Given the description of an element on the screen output the (x, y) to click on. 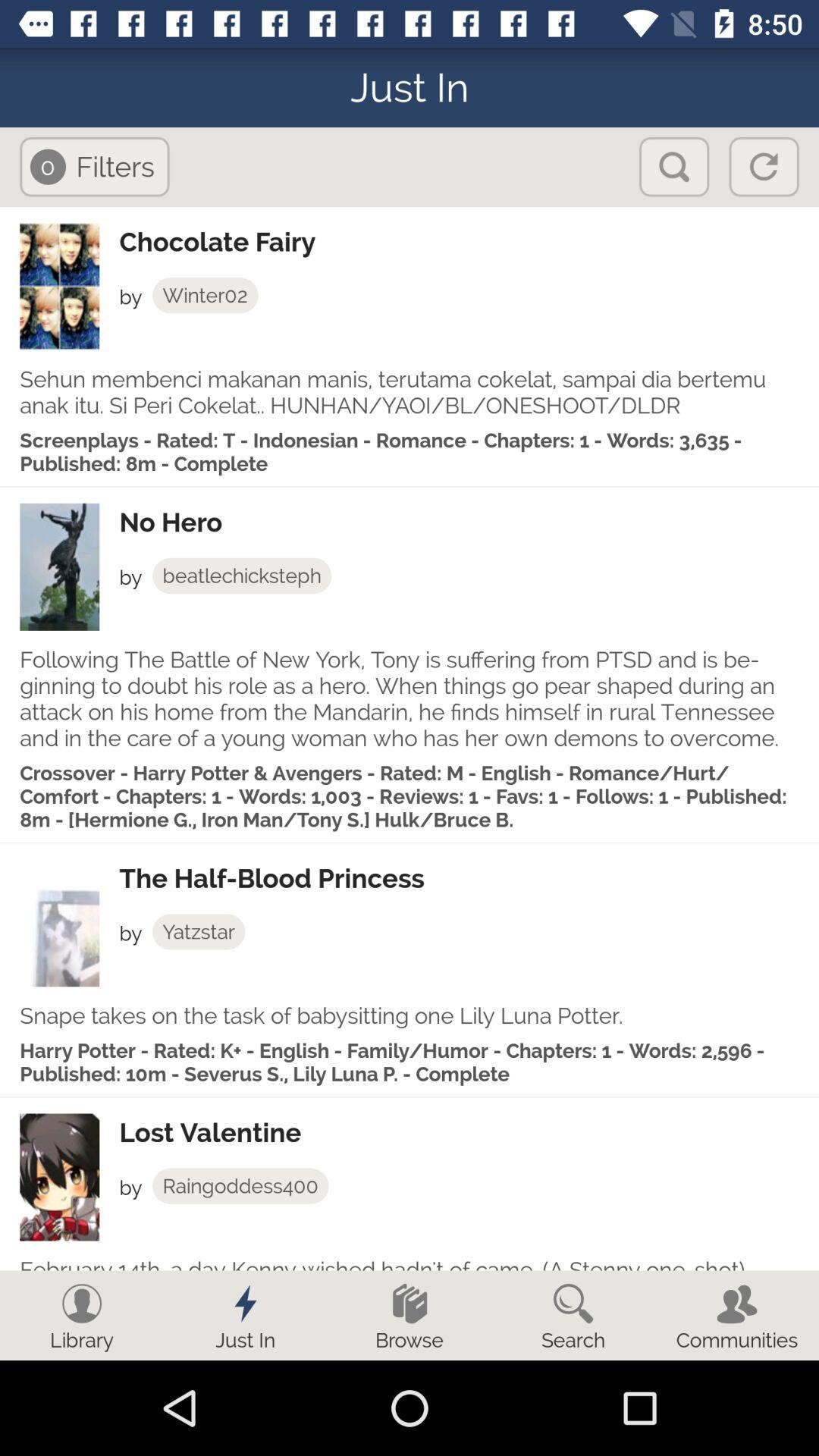
turn on the icon above the by app (469, 1132)
